Given the description of an element on the screen output the (x, y) to click on. 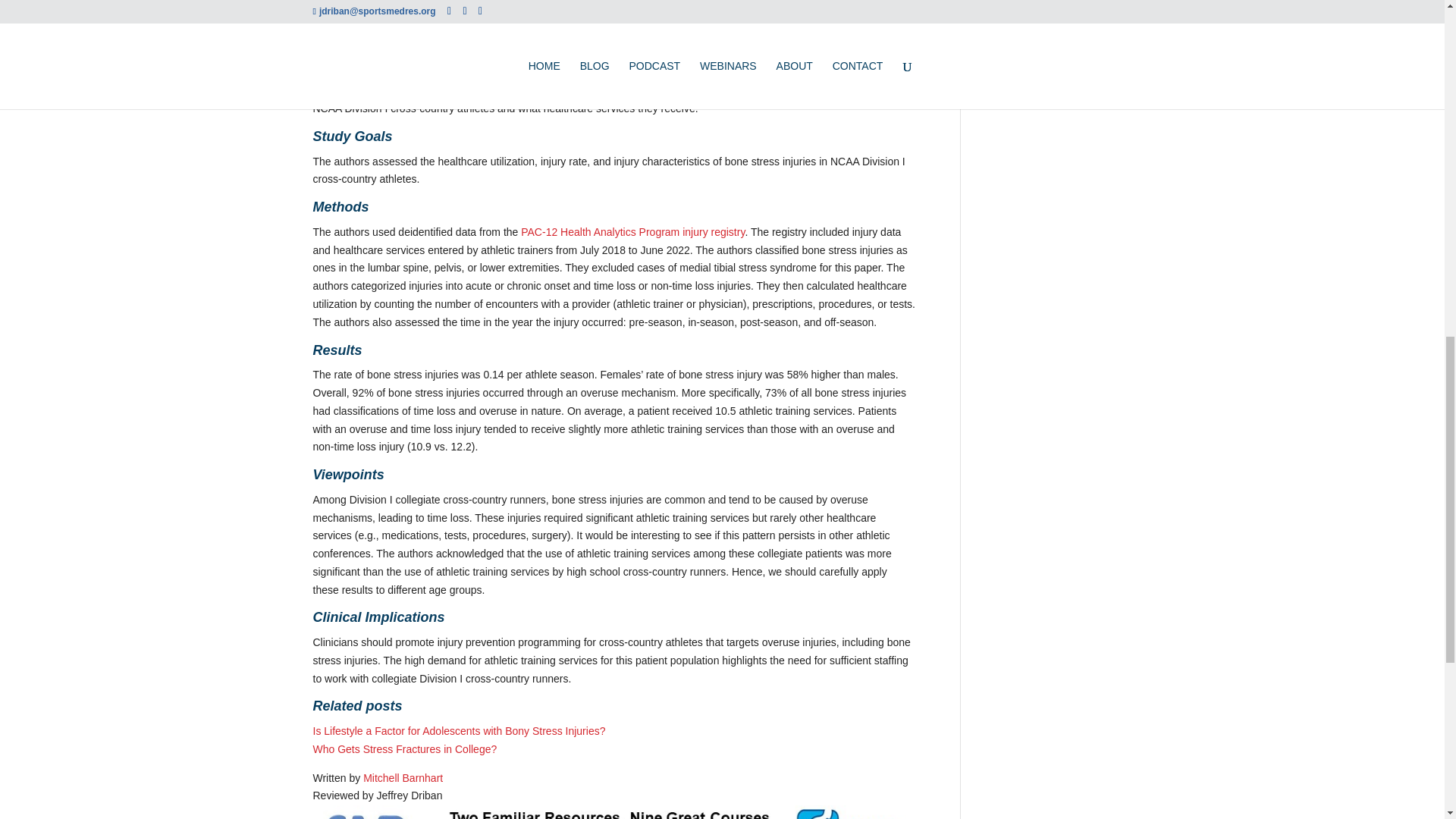
Mitchell Barnhart (402, 777)
PAC-12 Health Analytics Program injury registry (632, 232)
Who Gets Stress Fractures in College? (404, 748)
